Given the description of an element on the screen output the (x, y) to click on. 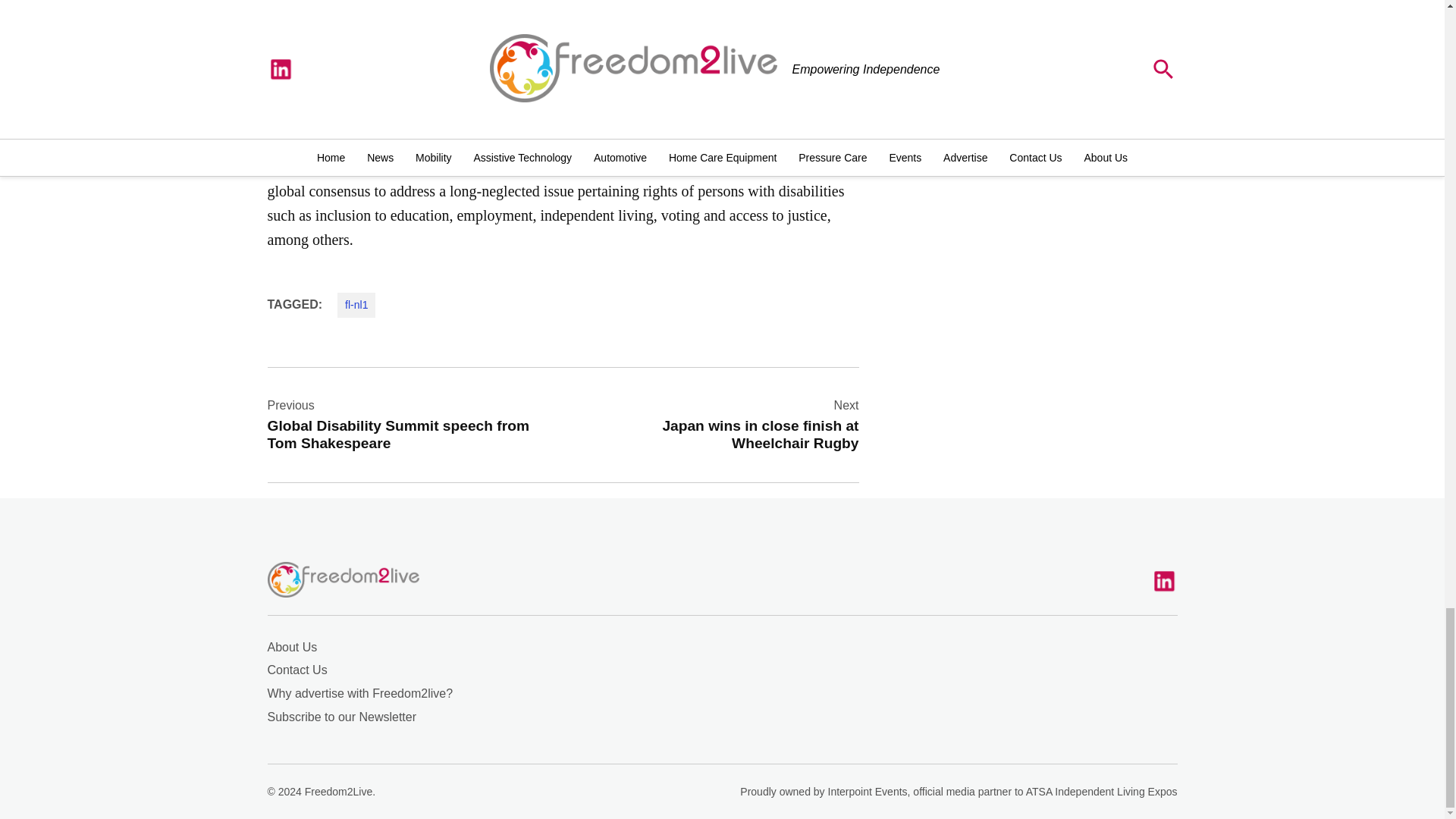
fl-nl1 (356, 304)
linkedin (725, 424)
